Given the description of an element on the screen output the (x, y) to click on. 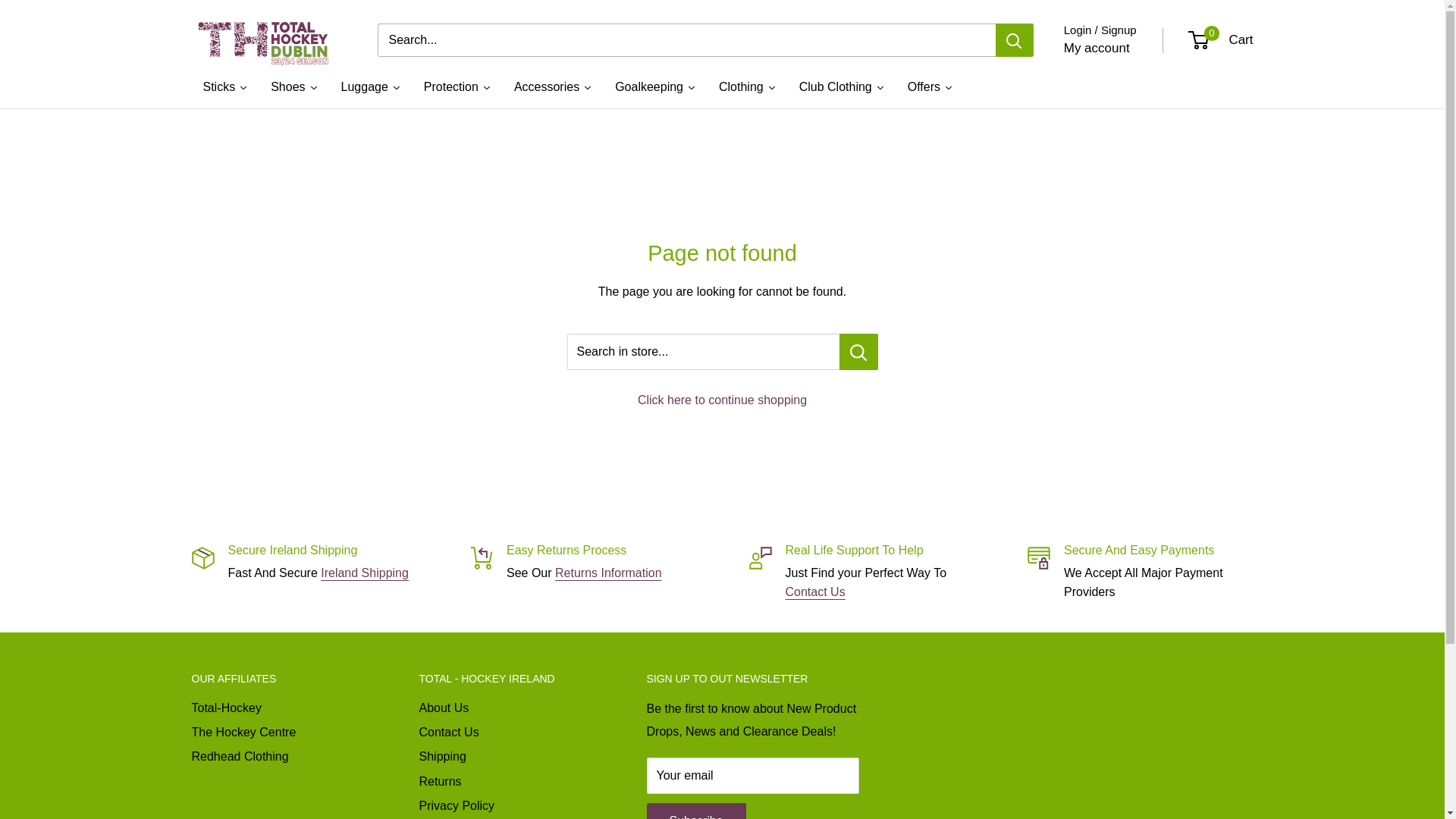
Clothing (747, 86)
Total-Hockey Ireland (268, 40)
Sticks (224, 86)
Returns (608, 572)
Shipping (364, 572)
Goalkeeping (655, 86)
Club Clothing (841, 86)
My account (1096, 48)
Accessories (553, 86)
Sticks (224, 86)
Luggage (371, 86)
Protection (457, 86)
Shoes (294, 86)
Luggage (371, 86)
Shoes (294, 86)
